Given the description of an element on the screen output the (x, y) to click on. 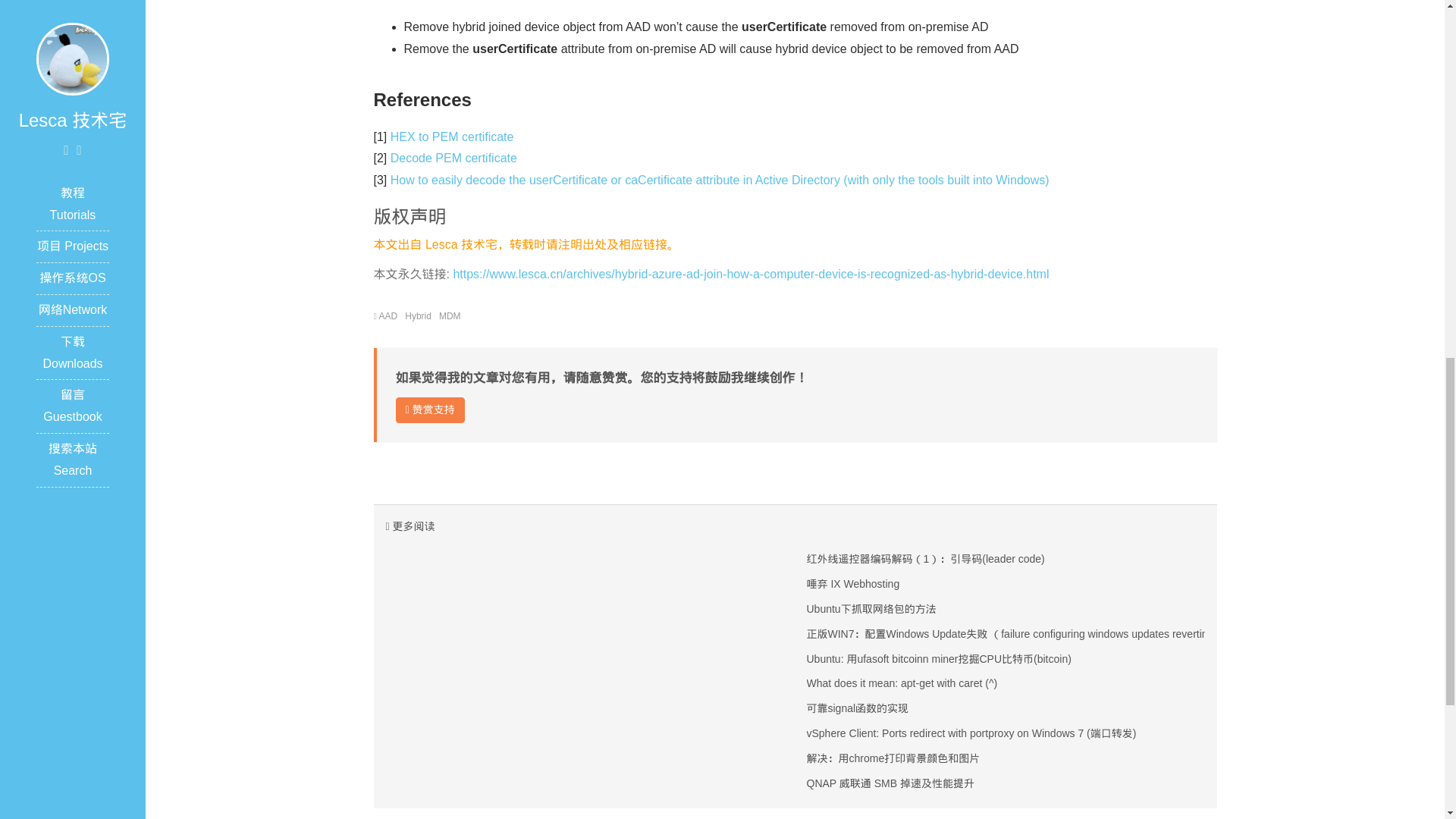
MDM (450, 316)
Hybrid (417, 316)
AAD (387, 316)
HEX to PEM certificate (451, 136)
Decode PEM certificate (453, 157)
